Given the description of an element on the screen output the (x, y) to click on. 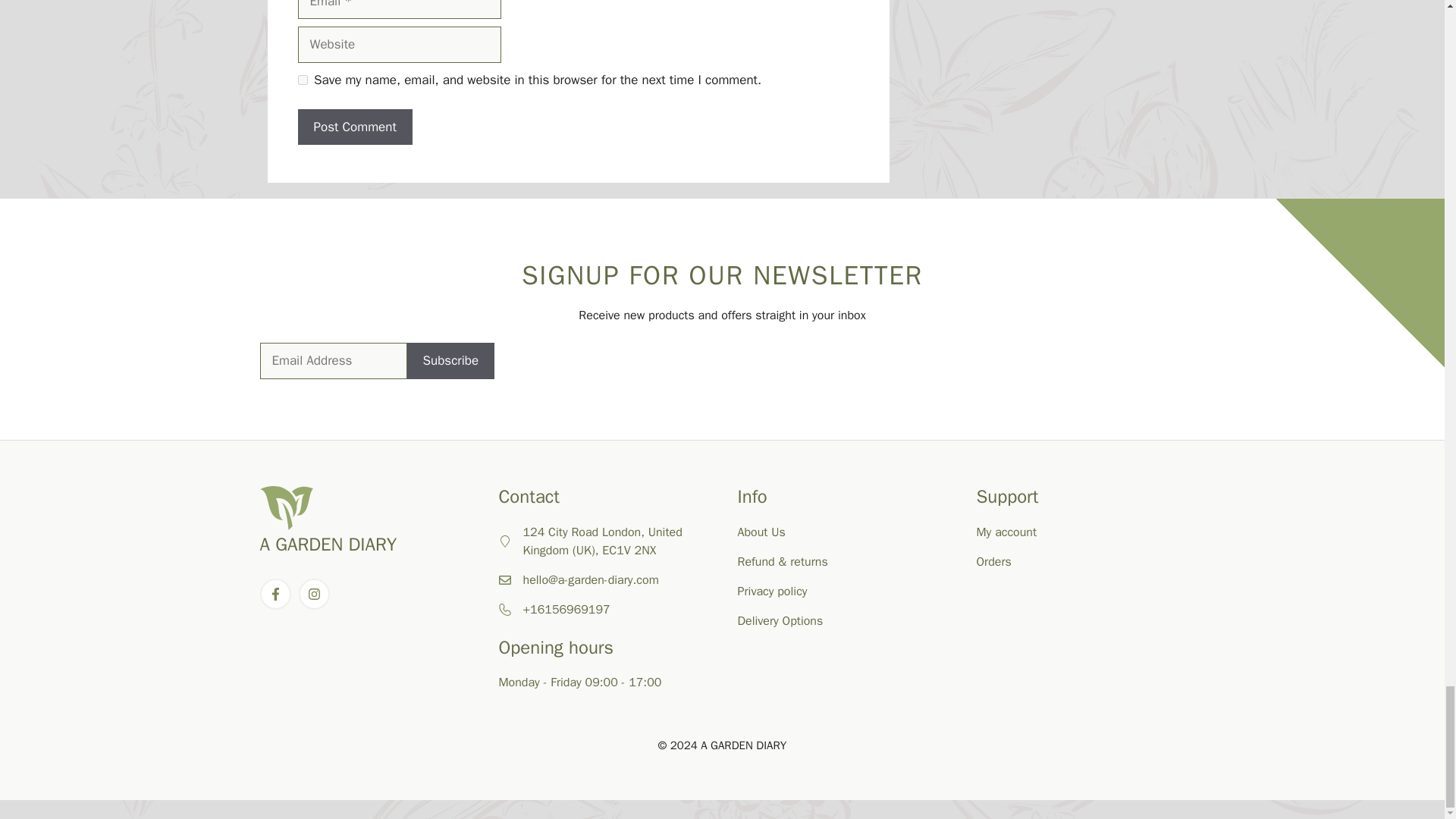
Subscribe (450, 361)
Post Comment (354, 126)
Botanist logo (286, 507)
My account (1006, 531)
yes (302, 80)
About Us (760, 531)
Delivery Options (779, 620)
Privacy policy (771, 590)
Post Comment (354, 126)
Orders (993, 561)
Subscribe (450, 361)
